Given the description of an element on the screen output the (x, y) to click on. 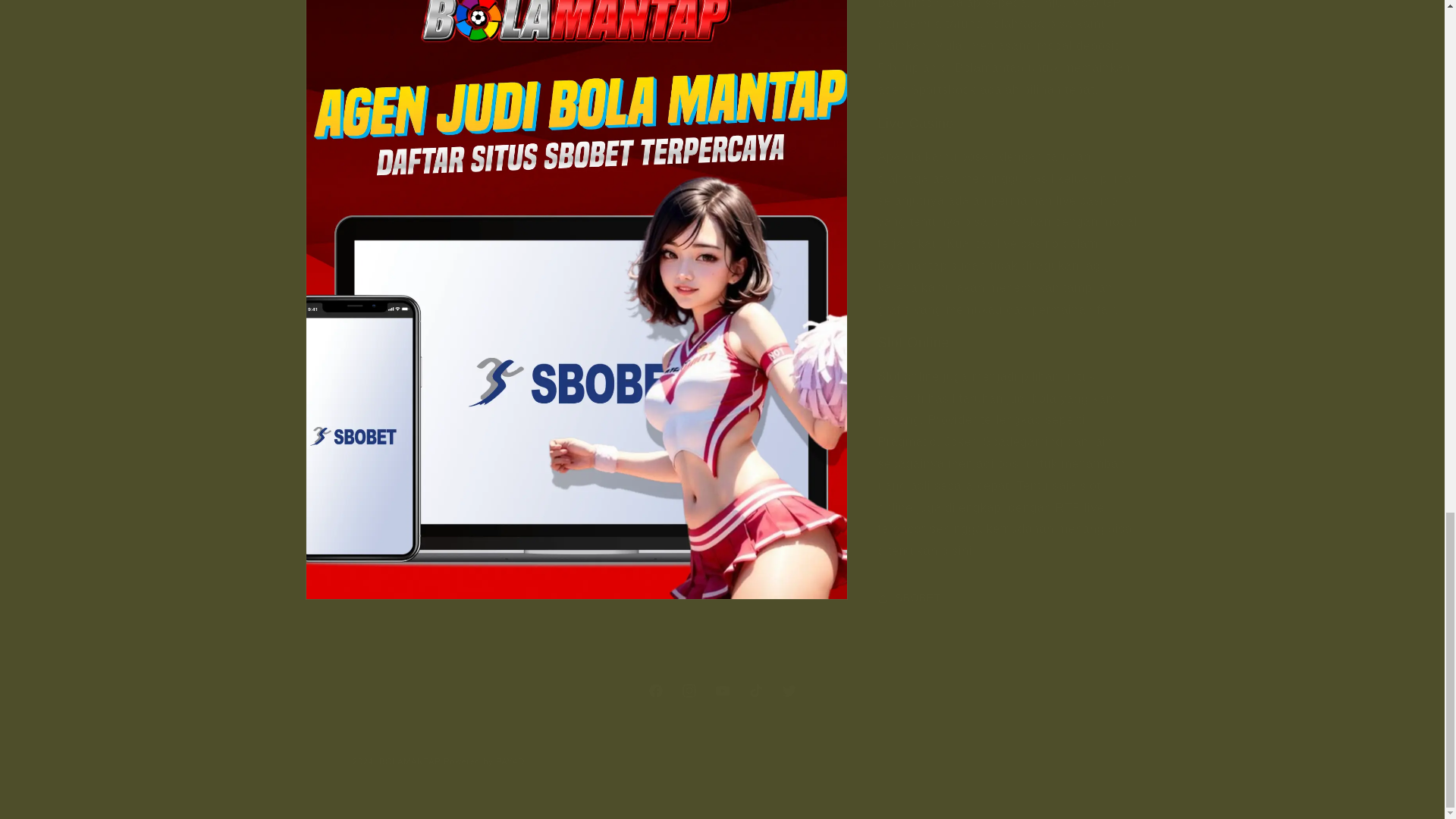
Twitter (788, 690)
YouTube (721, 690)
Powered by PAY4D (484, 760)
Instagram (687, 690)
BOLAMANTAP (409, 760)
Facebook (655, 690)
TikTok (721, 690)
